Given the description of an element on the screen output the (x, y) to click on. 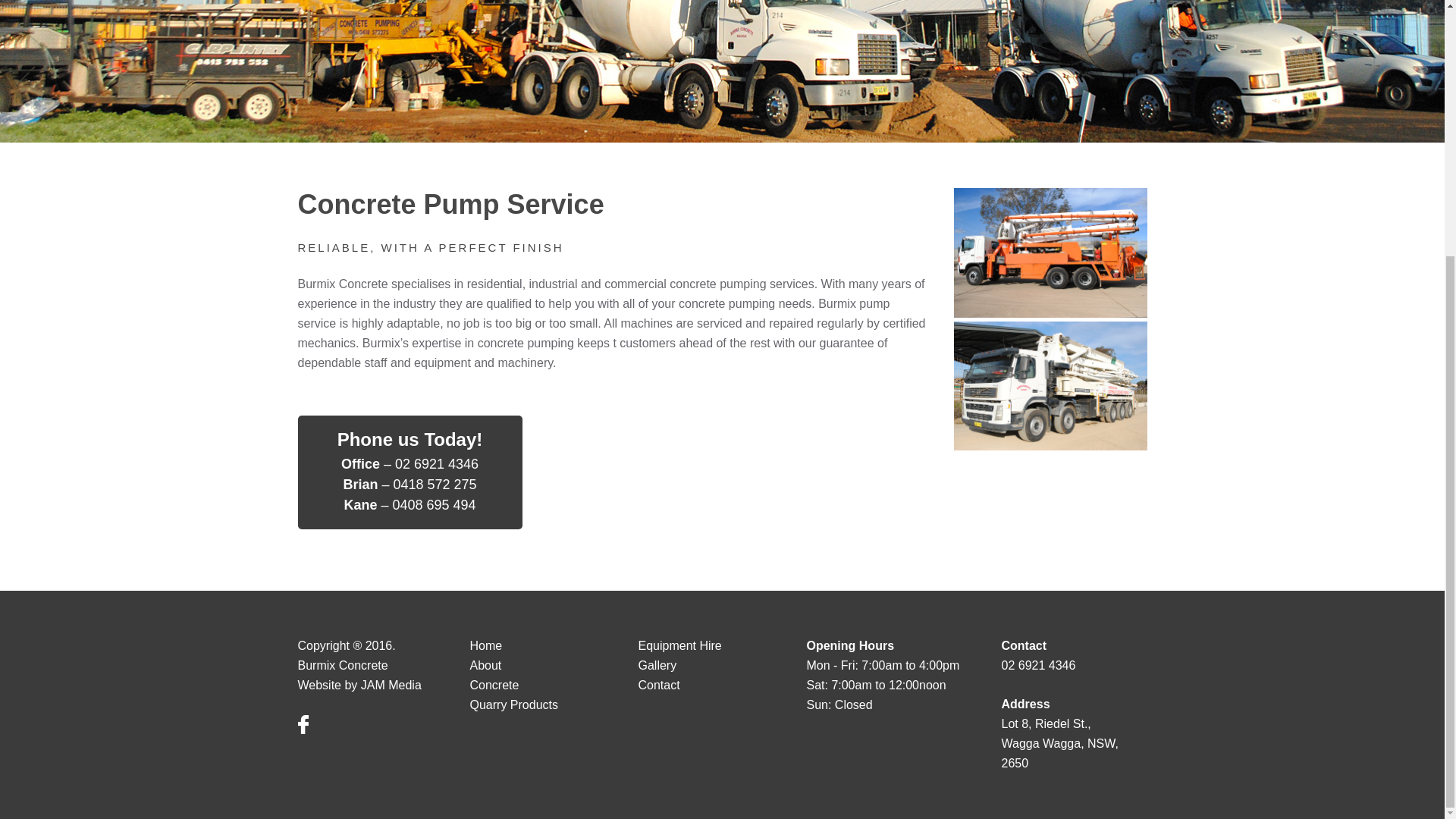
0418 572 275 (434, 484)
Quarry Products (513, 704)
About (486, 665)
Concrete (494, 684)
Home (486, 645)
02 6921 4346 (436, 463)
02 6921 4346 (1038, 665)
0408 695 494 (433, 504)
Gallery (657, 665)
Equipment Hire (678, 645)
Contact (658, 684)
